Given the description of an element on the screen output the (x, y) to click on. 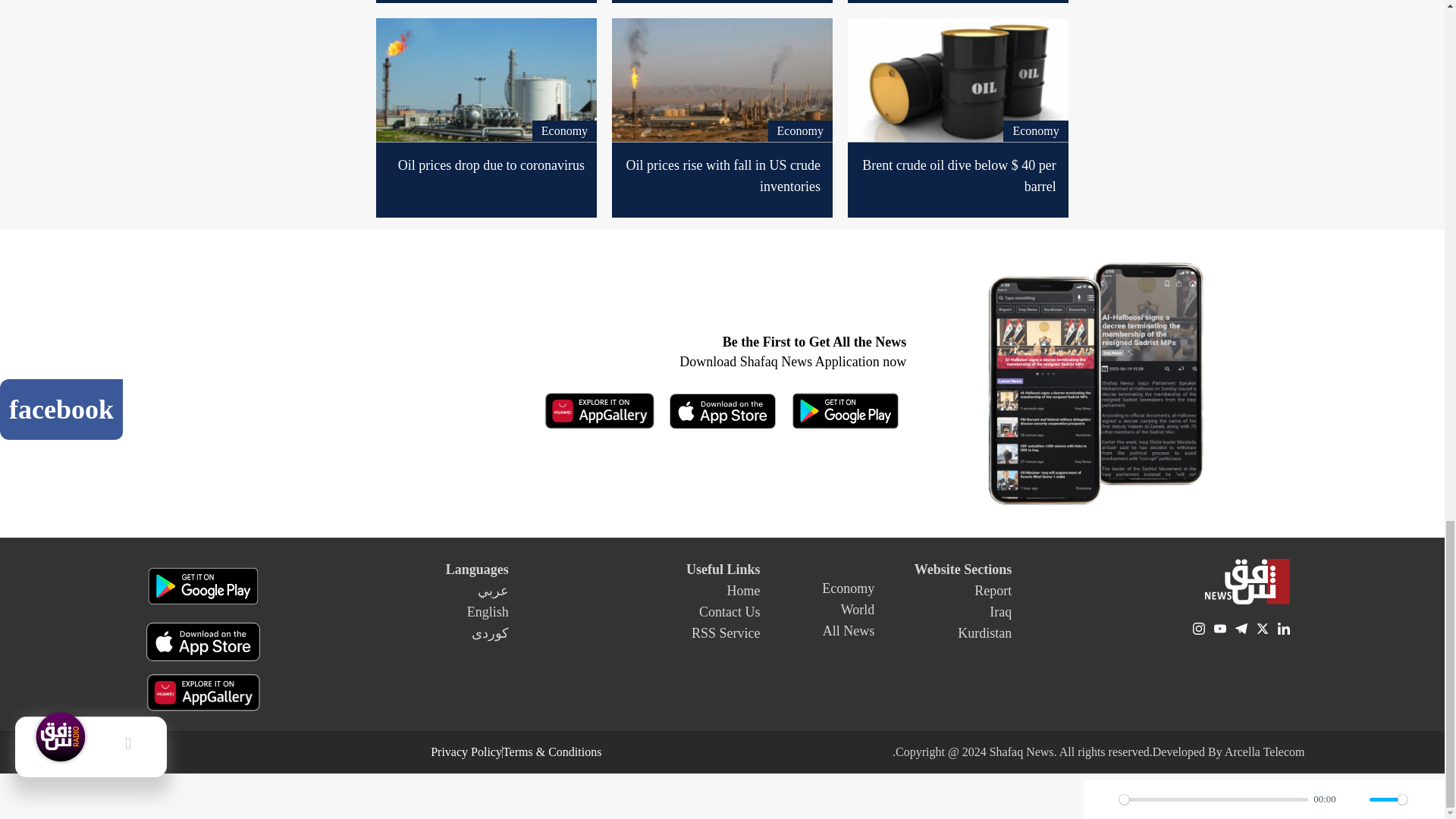
0 (1213, 799)
1 (1388, 799)
